Given the description of an element on the screen output the (x, y) to click on. 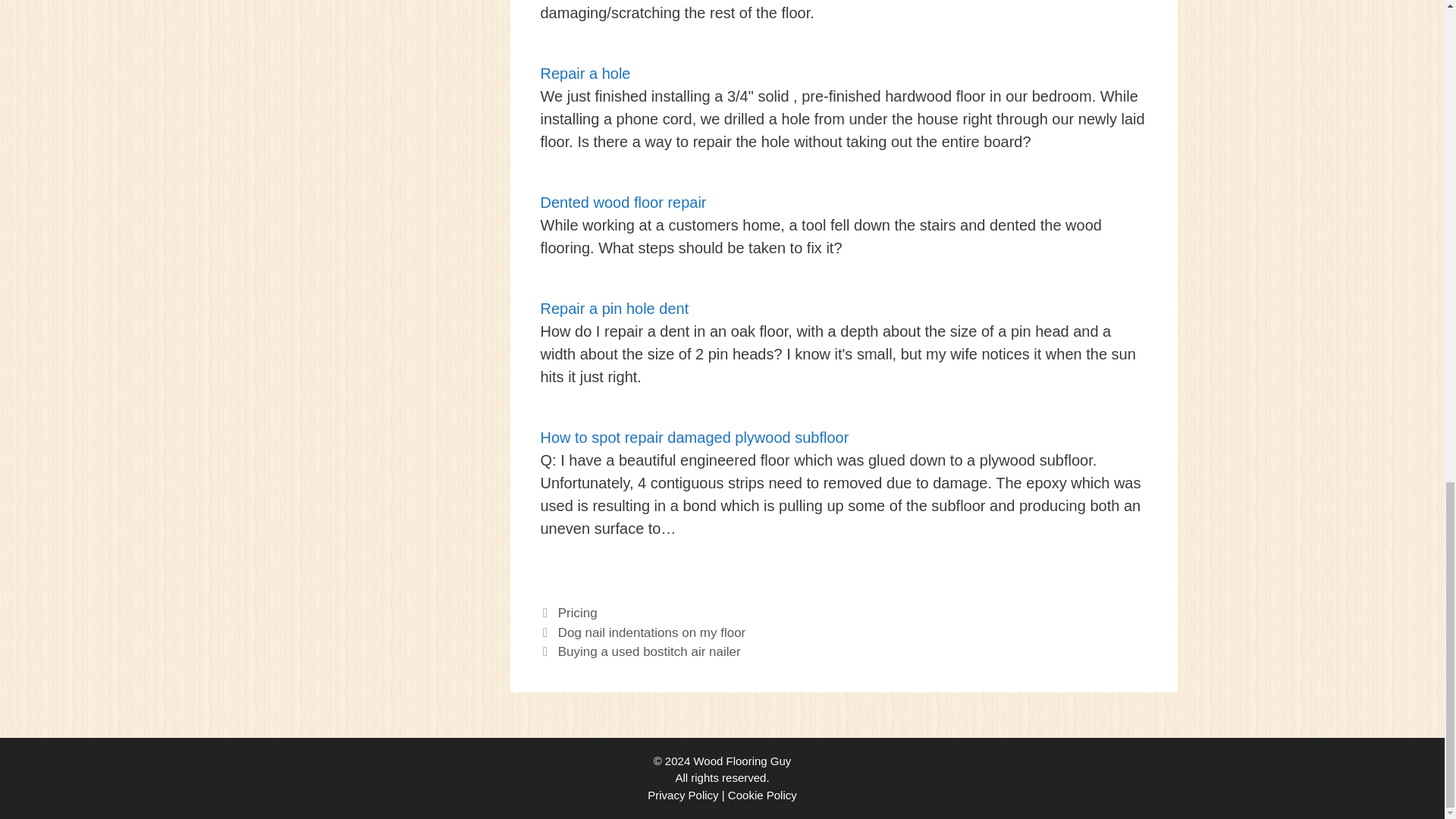
Scroll back to top (1406, 354)
